Given the description of an element on the screen output the (x, y) to click on. 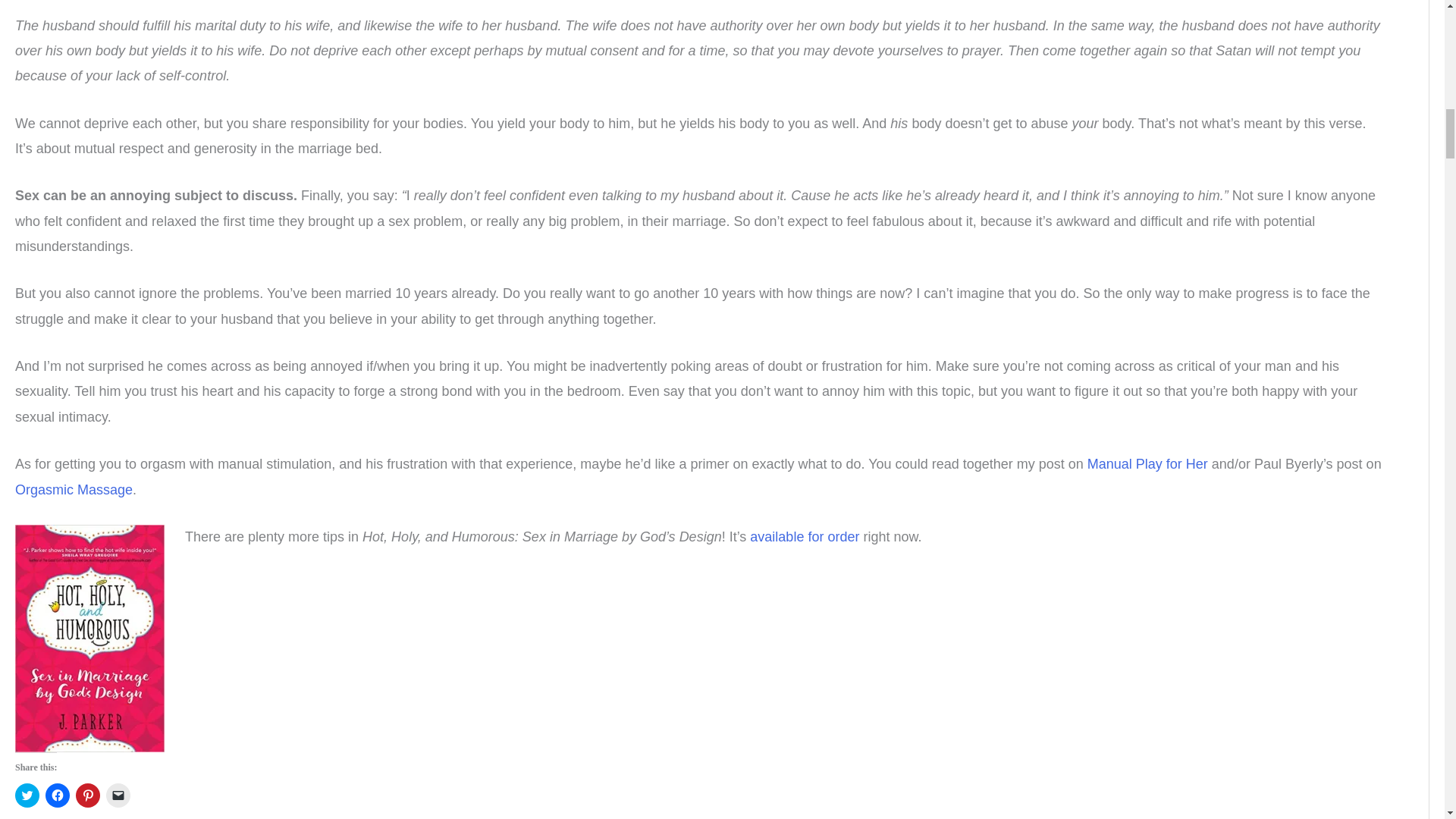
Click to share on Twitter (26, 794)
Orgasmic Massage (73, 489)
available for order (804, 536)
Click to share on Pinterest (87, 794)
Manual Play for Her (1147, 463)
Click to email a link to a friend (118, 794)
Click to share on Facebook (57, 794)
